Given the description of an element on the screen output the (x, y) to click on. 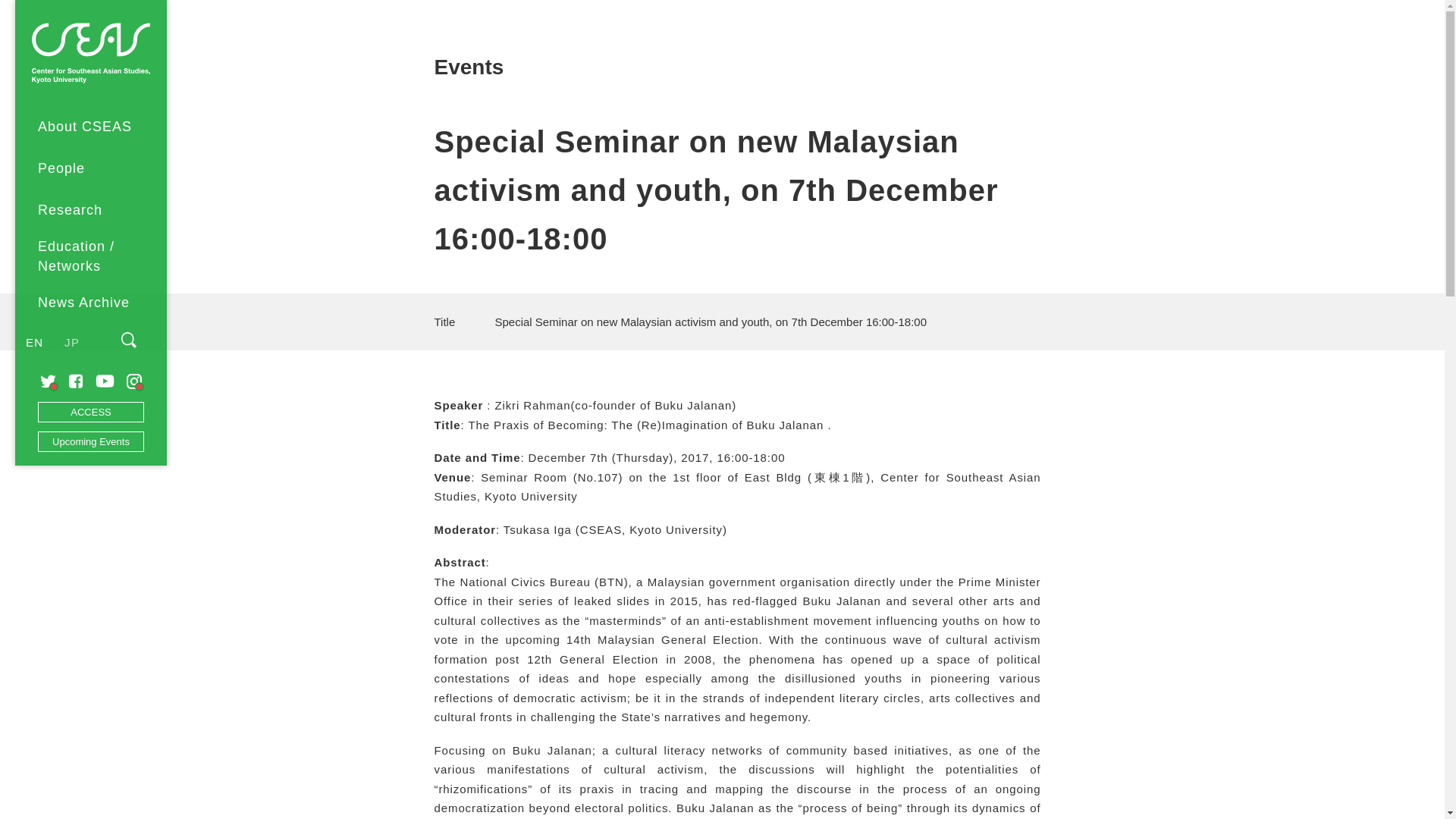
JP (71, 341)
Research (90, 209)
People (90, 168)
ACCESS (90, 412)
About CSEAS (90, 127)
EN (34, 341)
EN (34, 341)
JP (71, 341)
News Archive (90, 302)
Upcoming Events (90, 441)
